Given the description of an element on the screen output the (x, y) to click on. 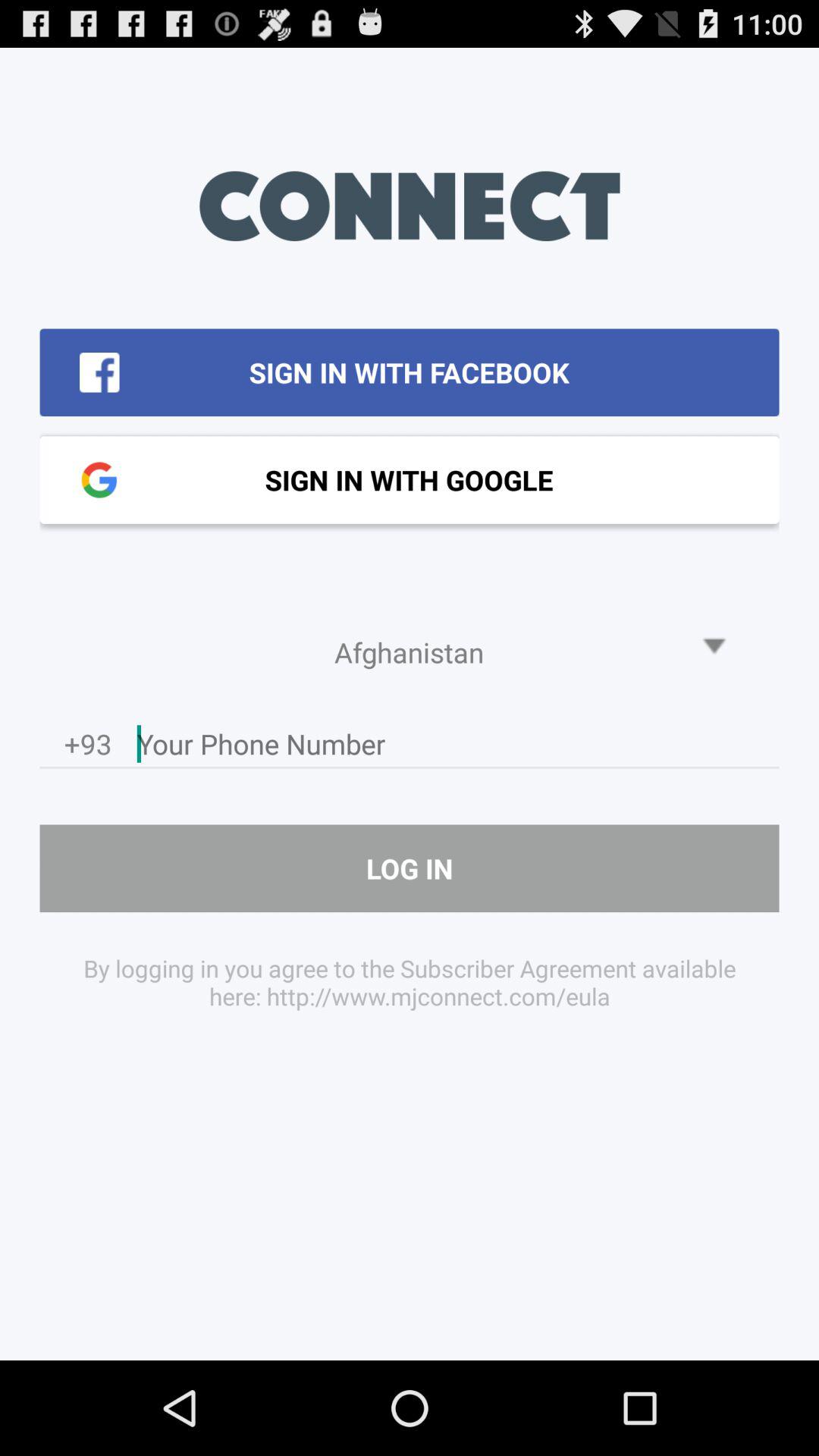
flip until the log in (409, 868)
